Given the description of an element on the screen output the (x, y) to click on. 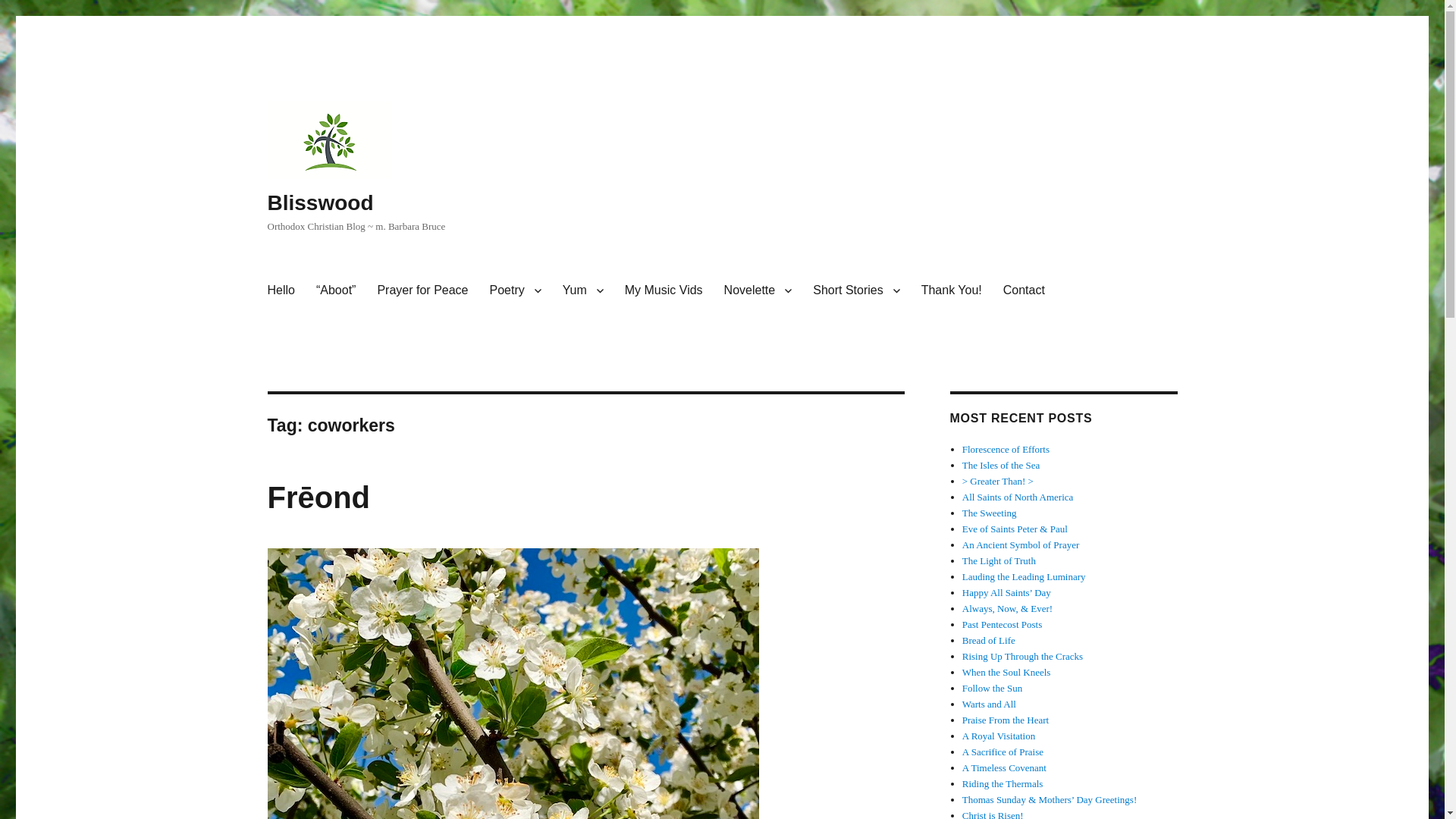
Hello (280, 290)
Yum (582, 290)
Blisswood (319, 202)
Poetry (515, 290)
Prayer for Peace (422, 290)
